Given the description of an element on the screen output the (x, y) to click on. 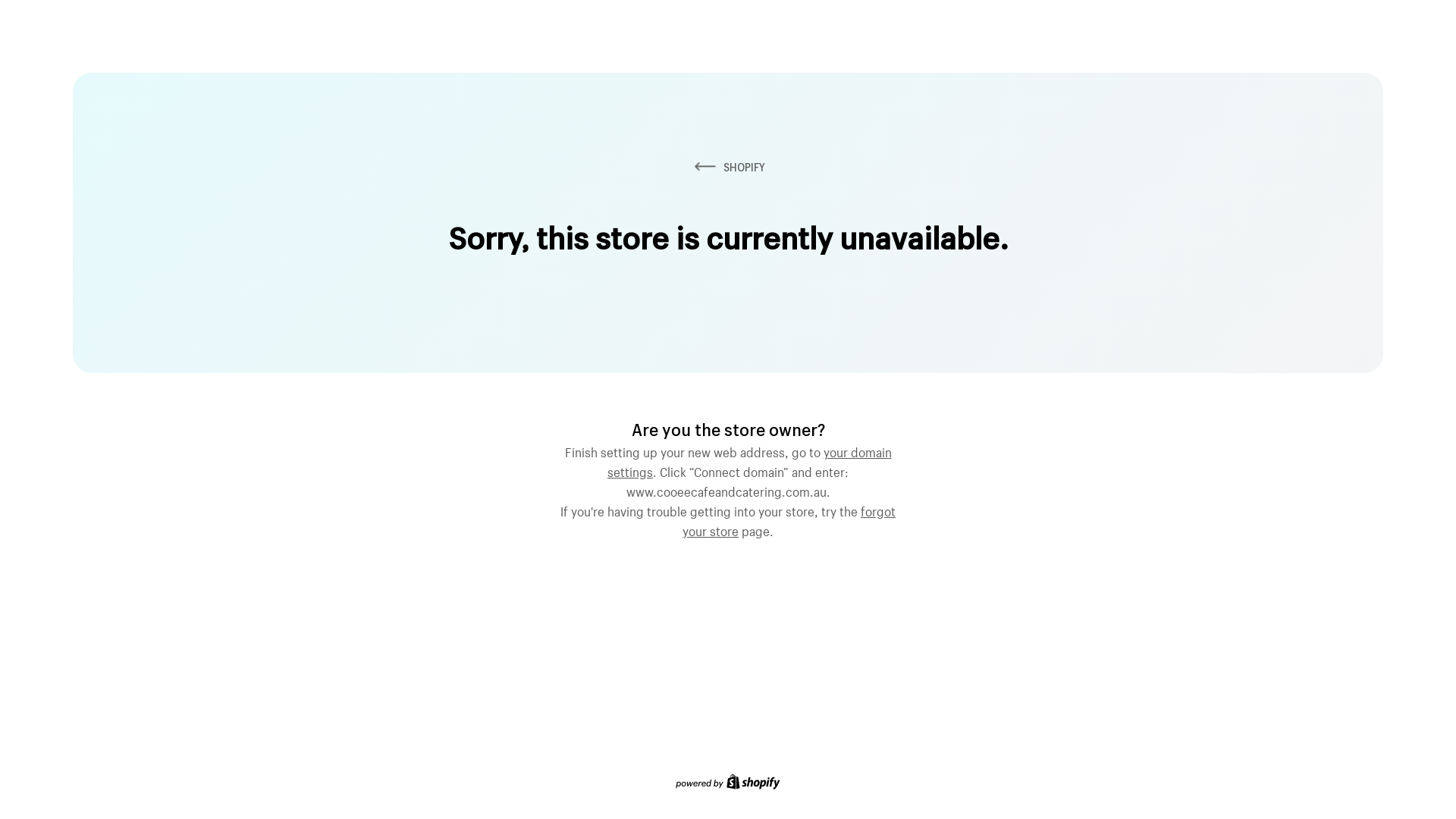
SHOPIFY Element type: text (727, 167)
your domain settings Element type: text (749, 460)
forgot your store Element type: text (788, 519)
